Given the description of an element on the screen output the (x, y) to click on. 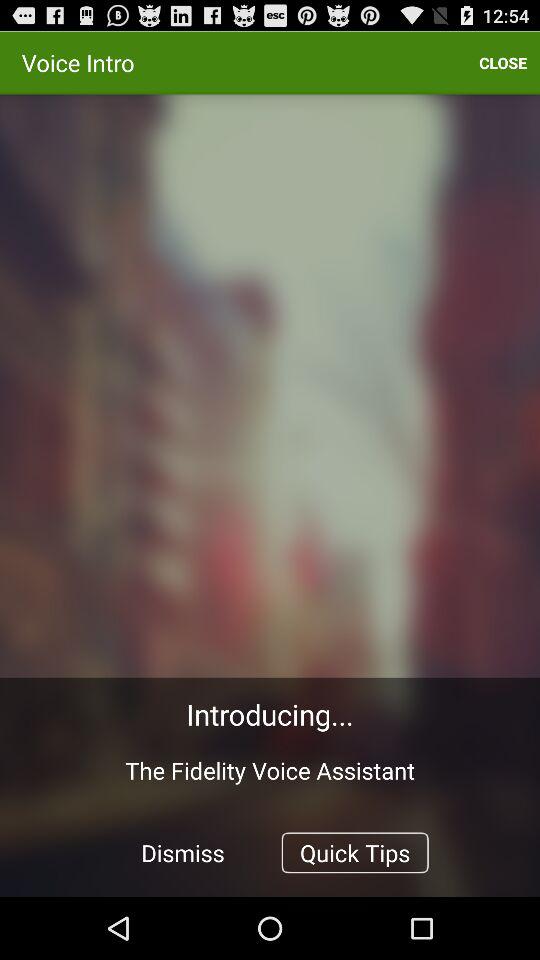
turn off the quick tips button (354, 852)
